Given the description of an element on the screen output the (x, y) to click on. 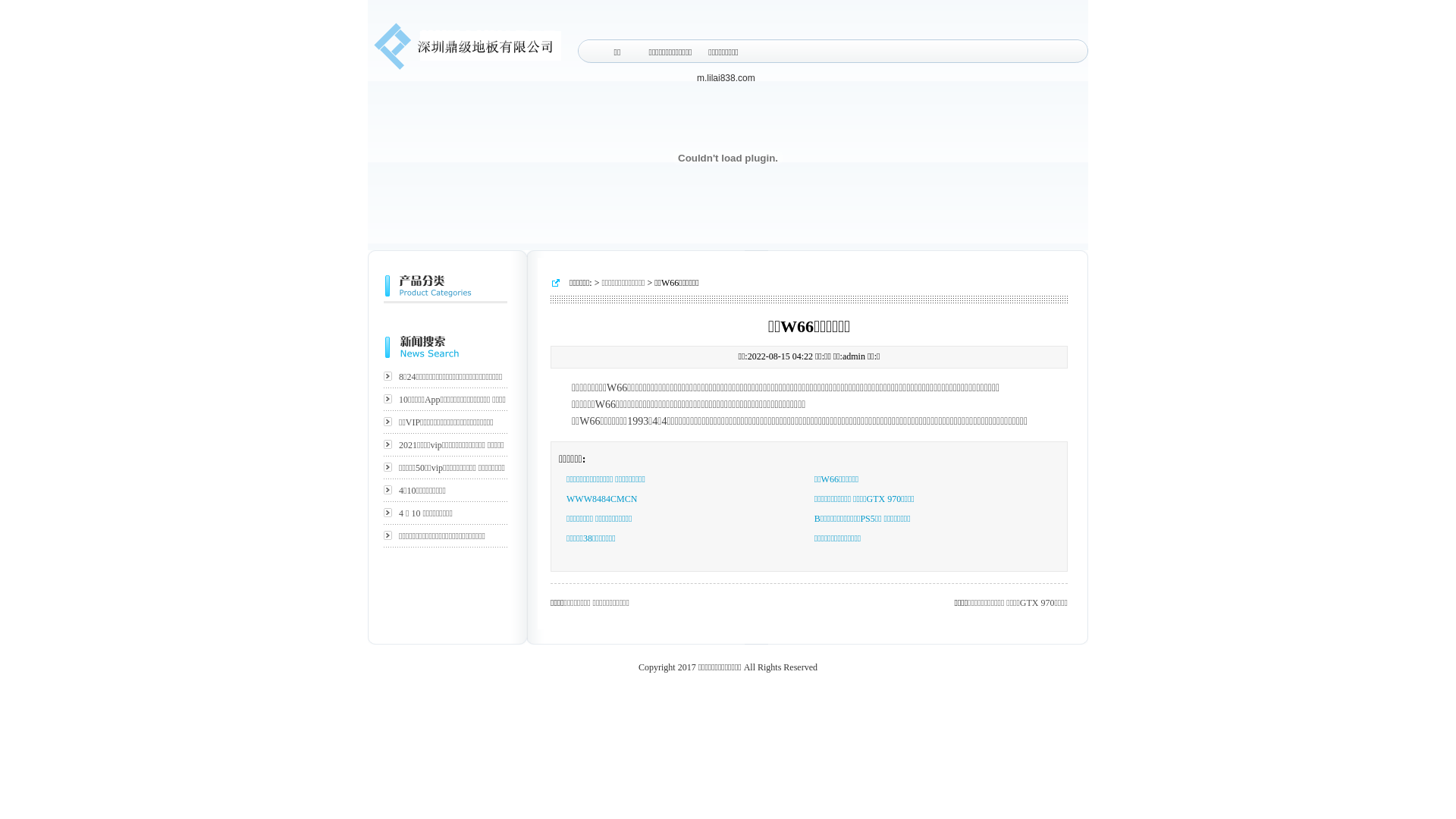
WWW8484CMCN Element type: text (601, 498)
